Given the description of an element on the screen output the (x, y) to click on. 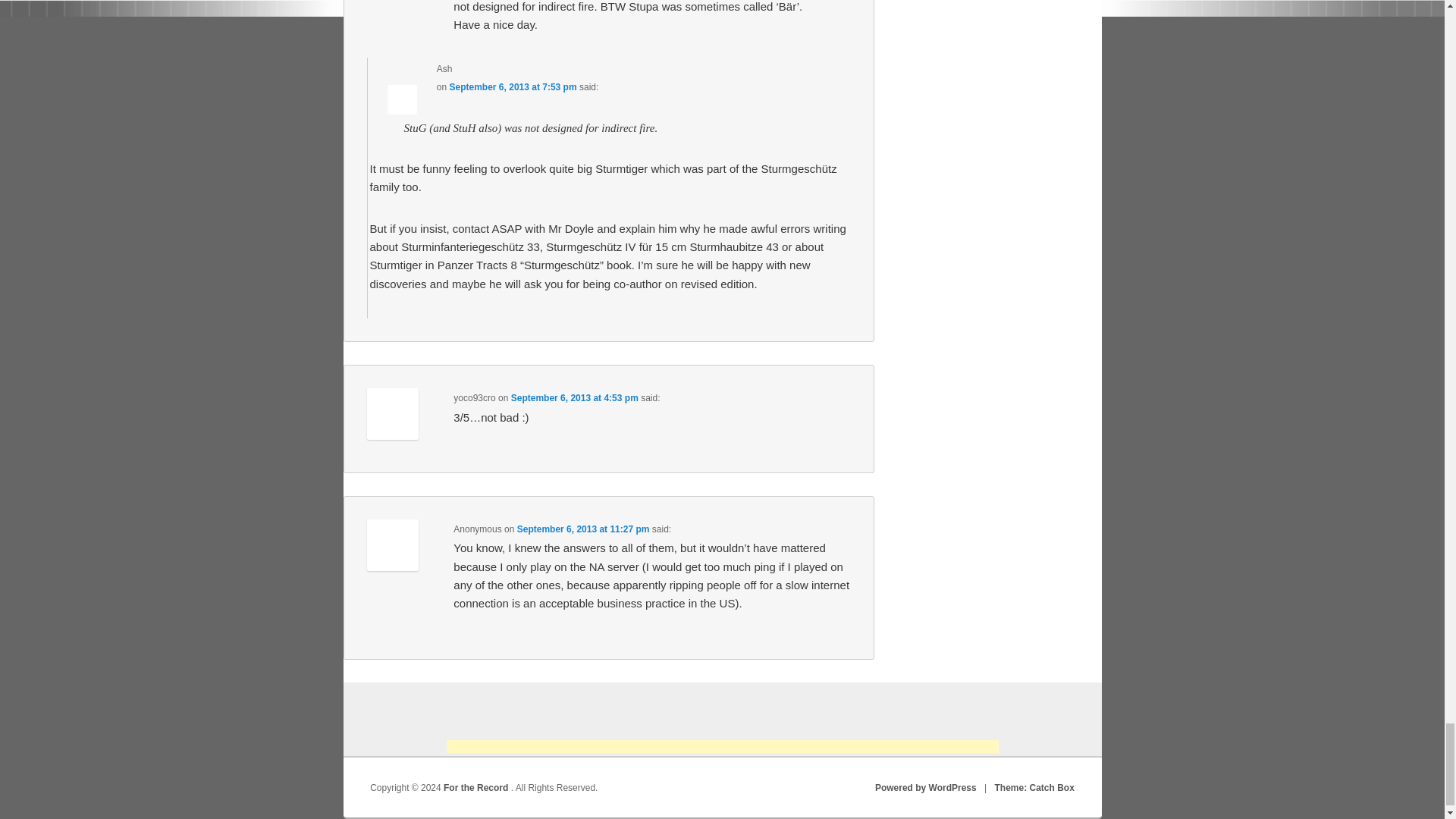
Powered by WordPress (925, 787)
For the Record (477, 787)
Theme Catch Box by Catch Themes (1034, 787)
